Given the description of an element on the screen output the (x, y) to click on. 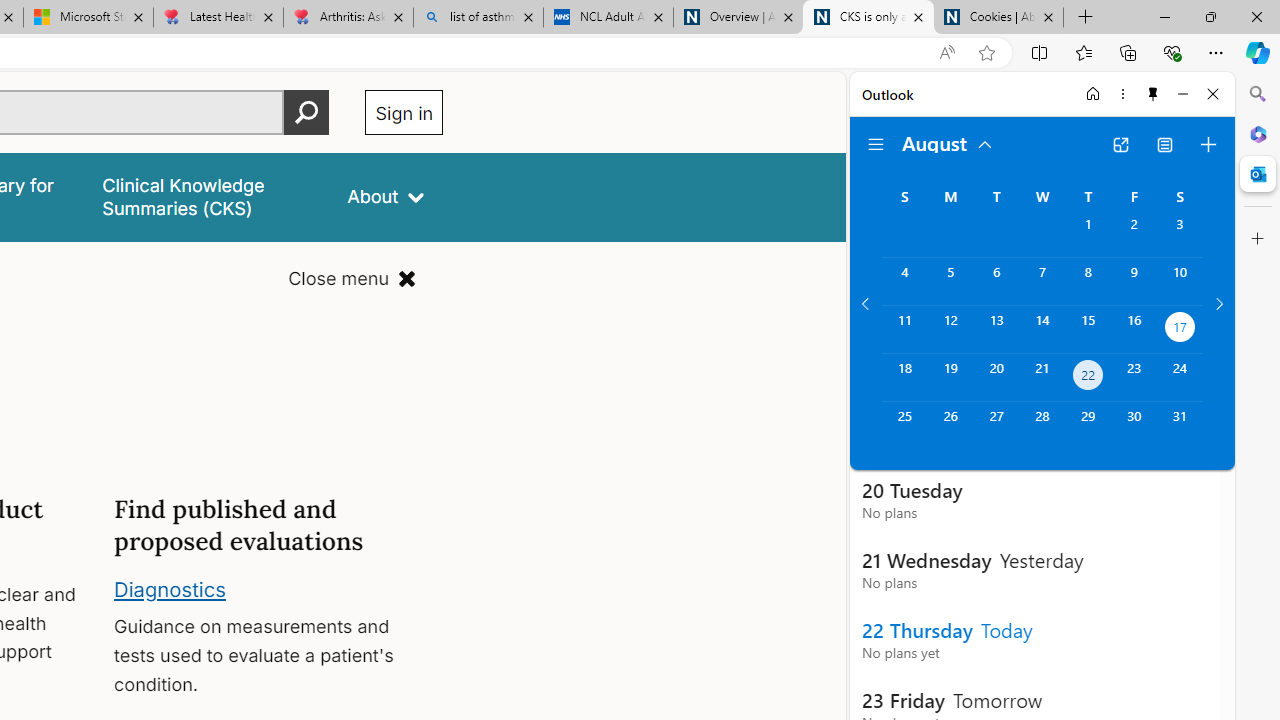
Monday, August 26, 2024.  (950, 425)
Saturday, August 3, 2024.  (1180, 233)
